Given the description of an element on the screen output the (x, y) to click on. 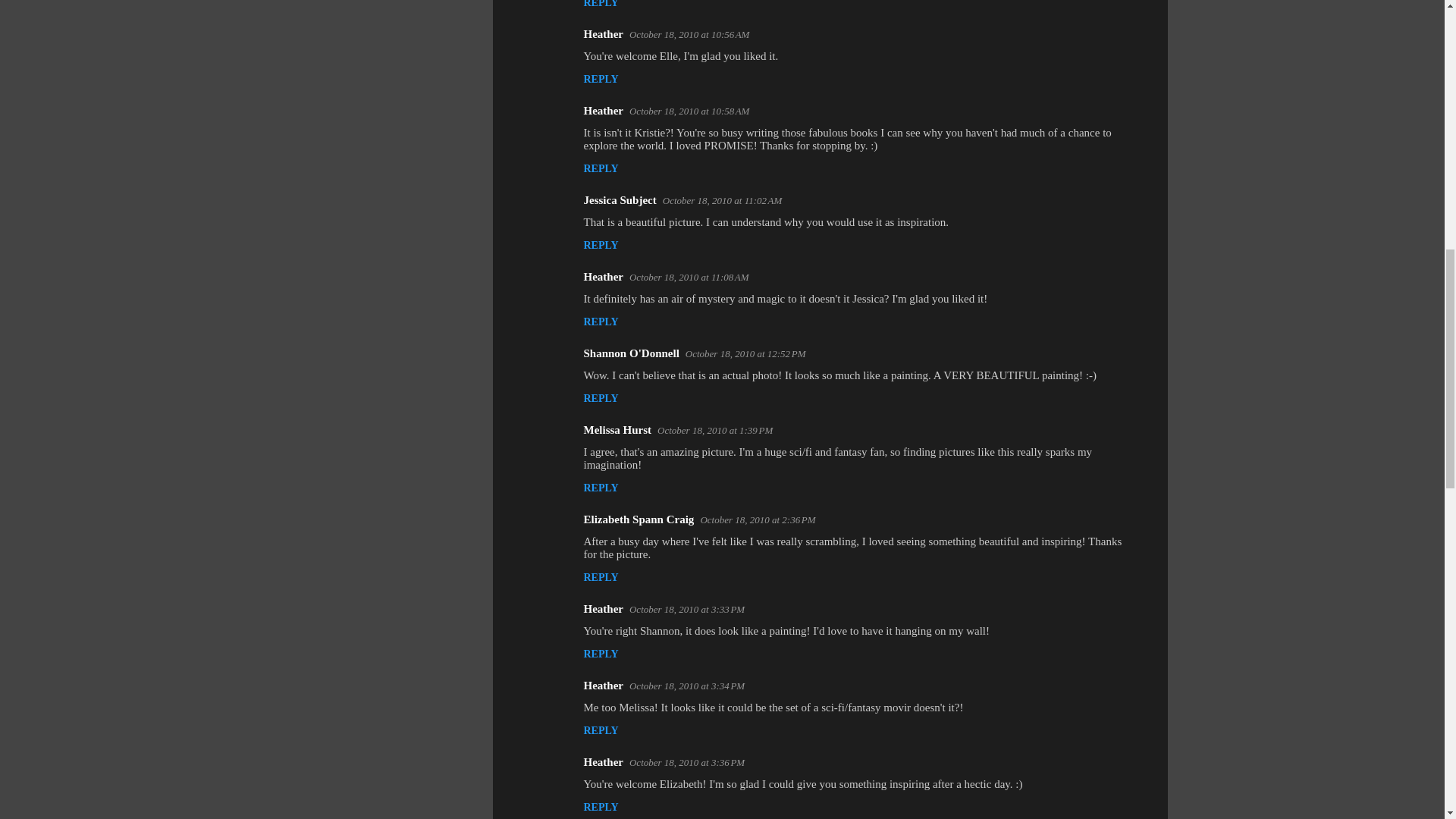
REPLY (600, 4)
Heather (603, 110)
REPLY (600, 168)
Heather (603, 33)
REPLY (600, 79)
